Given the description of an element on the screen output the (x, y) to click on. 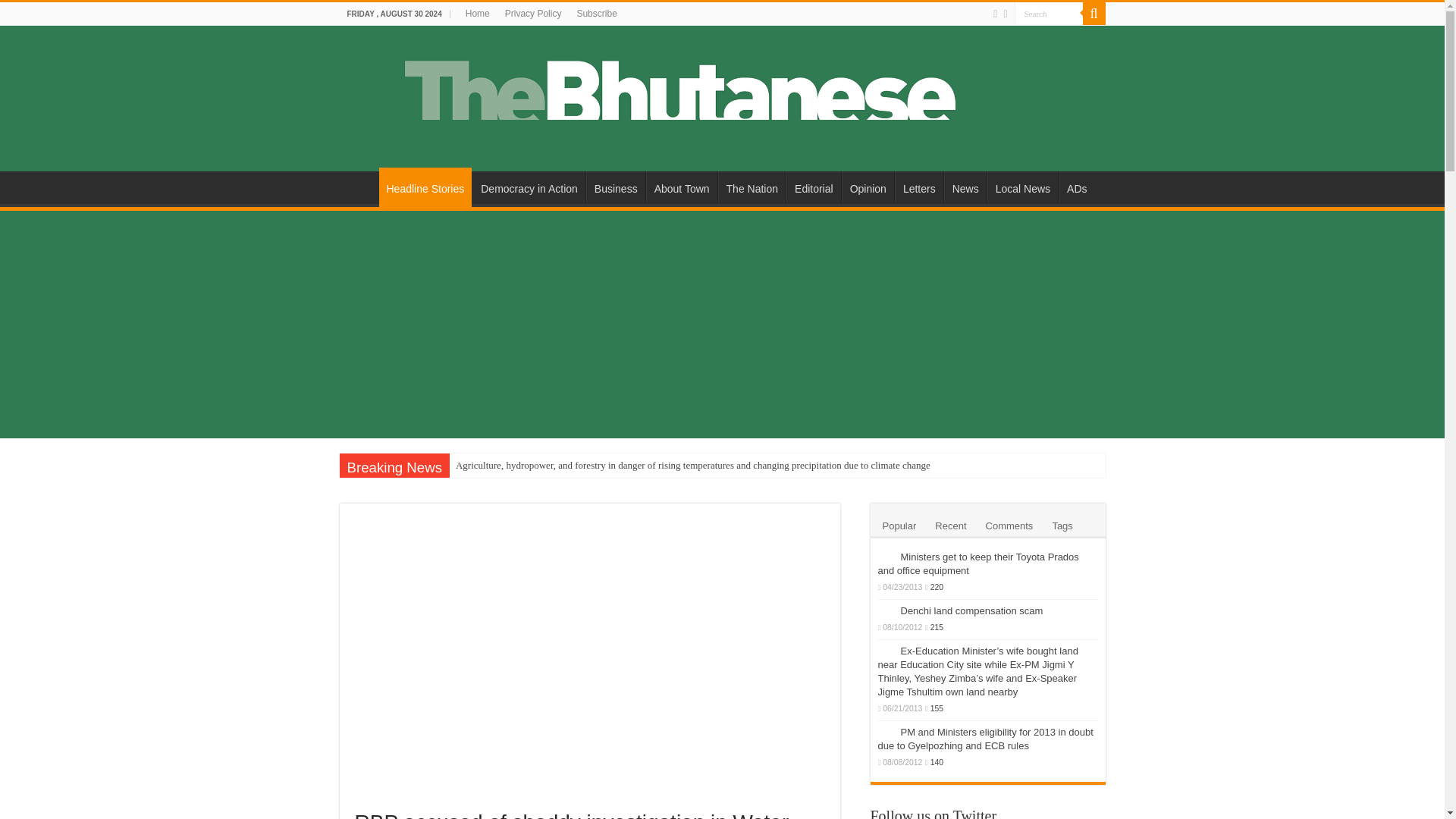
Editorial (813, 187)
Subscribe (596, 13)
The Nation (751, 187)
Search (1048, 13)
The Bhutanese (721, 94)
Search (1048, 13)
Privacy Policy (533, 13)
About Town (681, 187)
